Given the description of an element on the screen output the (x, y) to click on. 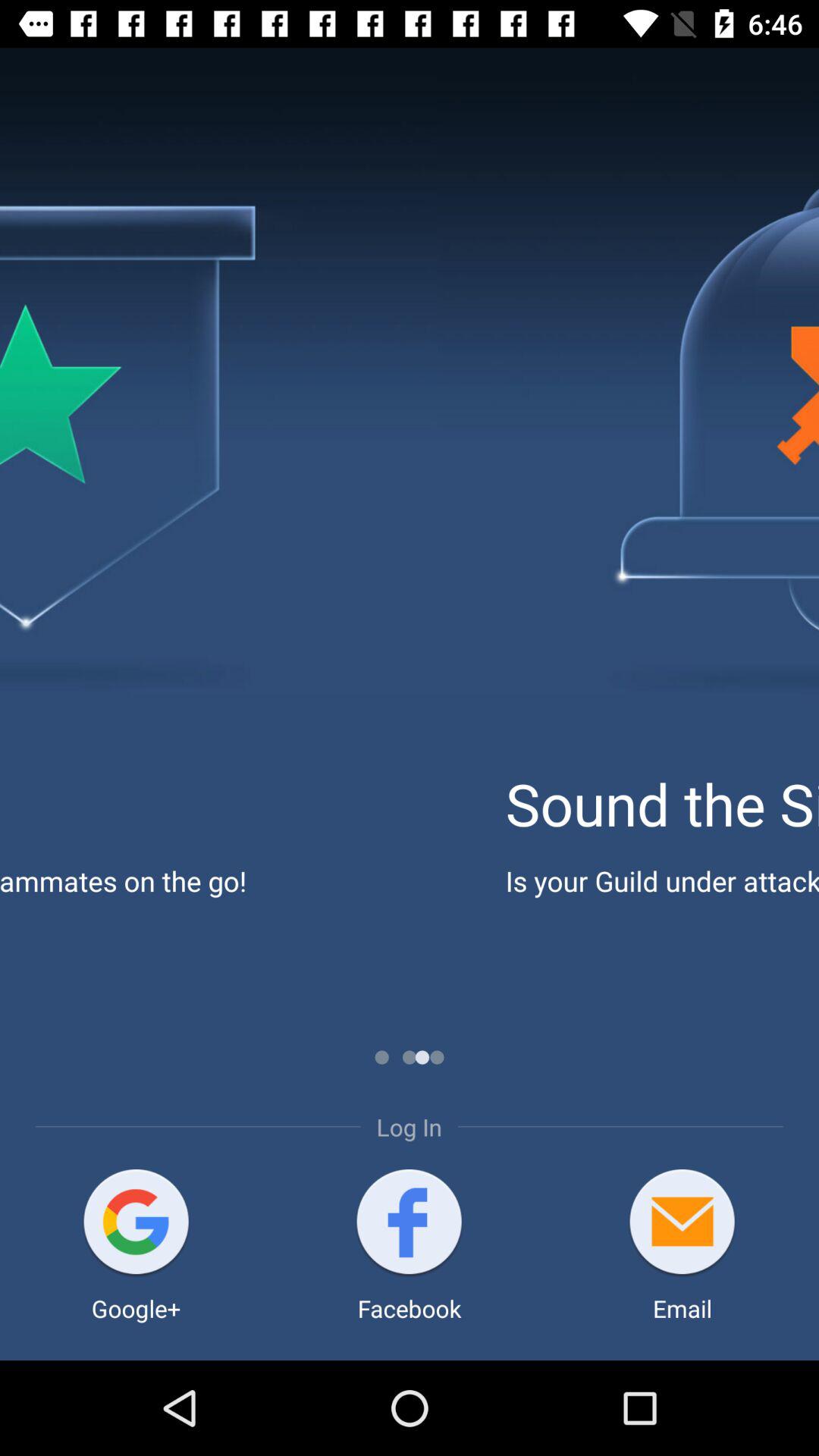
click app above google+ item (135, 1223)
